Given the description of an element on the screen output the (x, y) to click on. 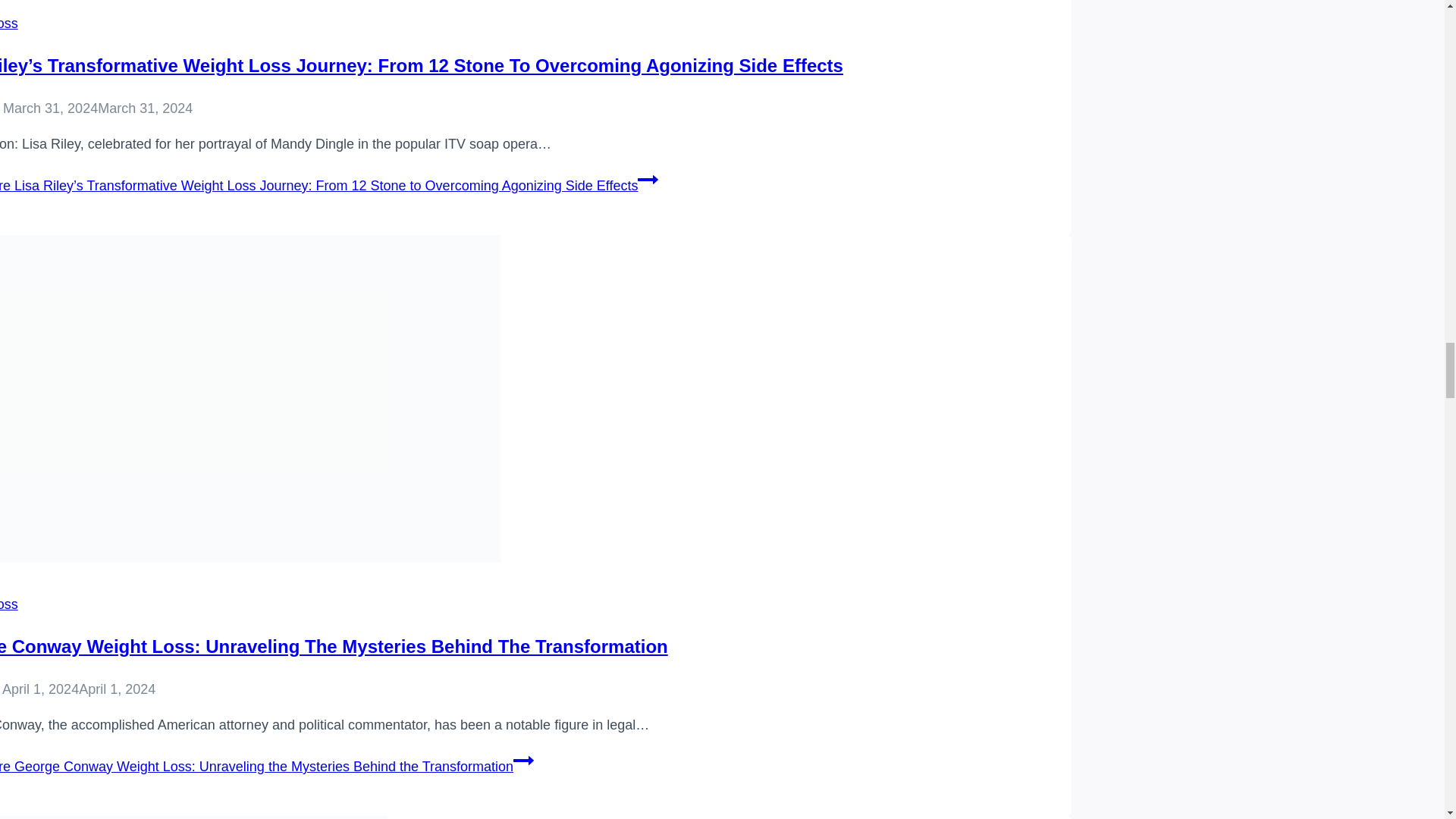
Weight Loss (8, 23)
Weight Loss (8, 604)
